Given the description of an element on the screen output the (x, y) to click on. 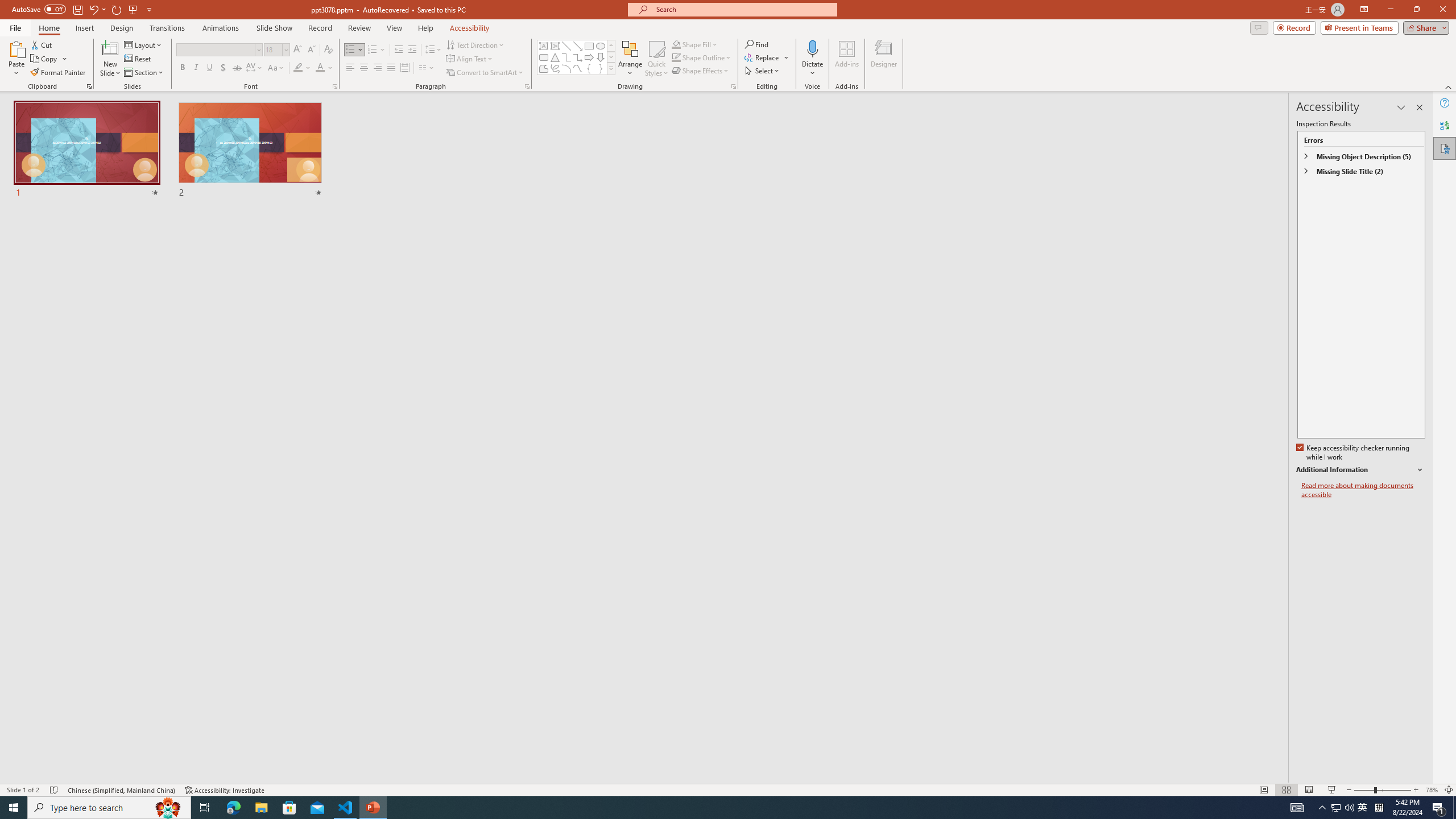
Shape Fill Dark Green, Accent 2 (675, 44)
Read more about making documents accessible (1363, 489)
Shape Effects (700, 69)
